Given the description of an element on the screen output the (x, y) to click on. 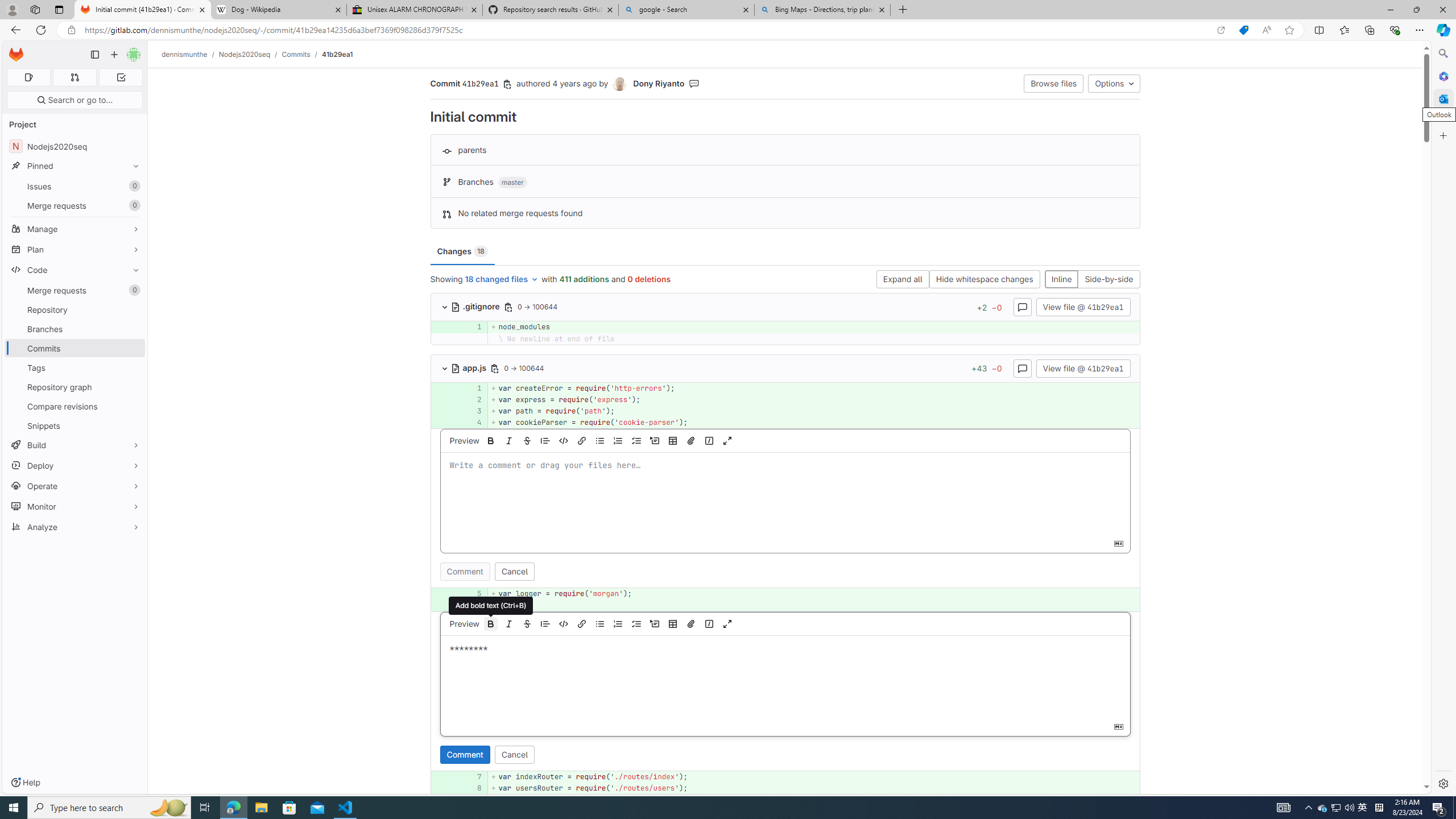
+ var indexRouter = require('./routes/index');  (813, 776)
Pin Repository graph (132, 386)
1 (472, 387)
Add bold text (Ctrl+B) (490, 623)
Open in app (1220, 29)
Go full screen (726, 623)
dennismunthe/ (189, 53)
2 (471, 399)
Issues 0 (74, 185)
Tags (74, 367)
Hide whitespace changes (983, 279)
Assigned issues 0 (28, 76)
